Given the description of an element on the screen output the (x, y) to click on. 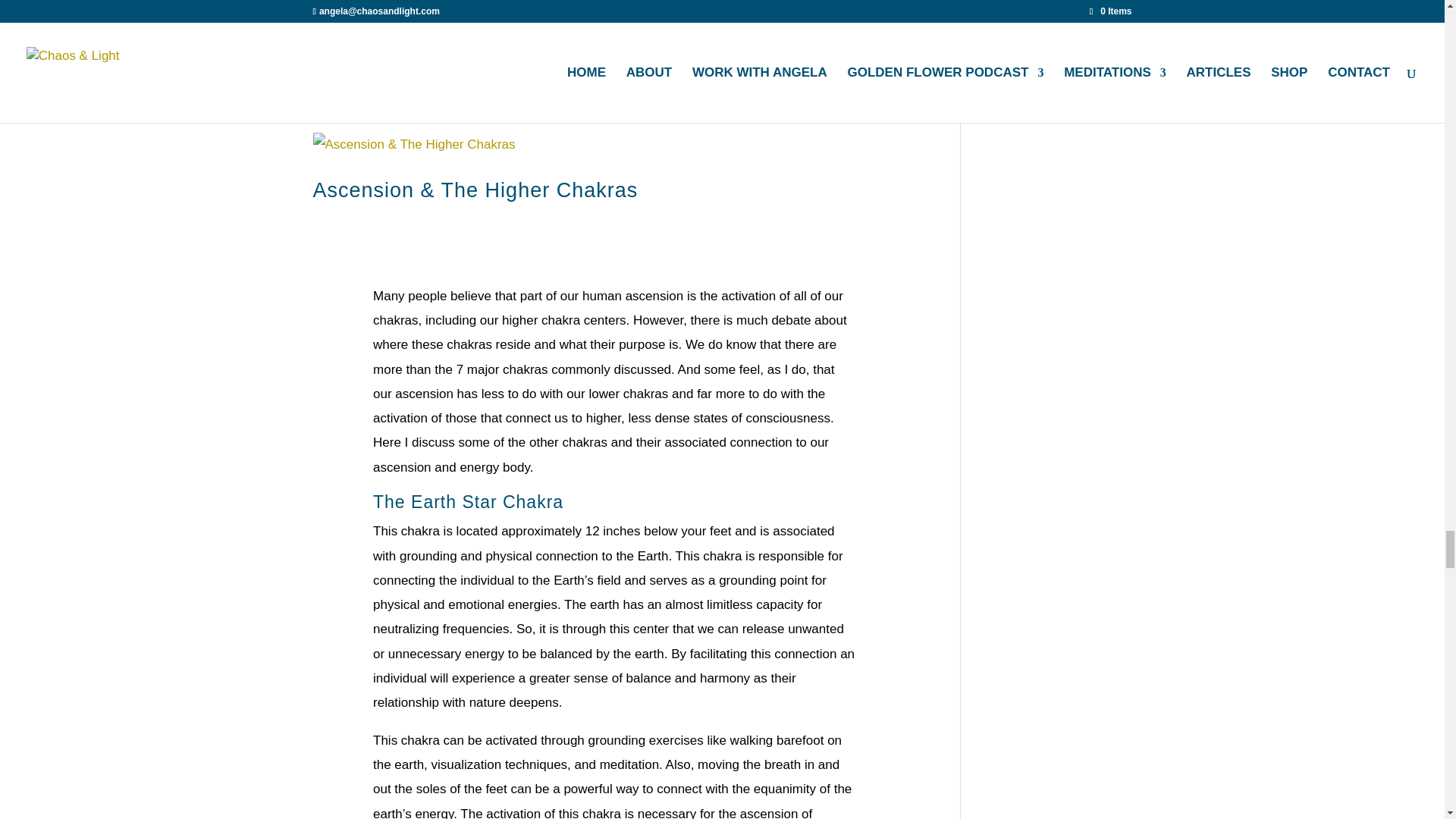
Subscribe (613, 3)
